Given the description of an element on the screen output the (x, y) to click on. 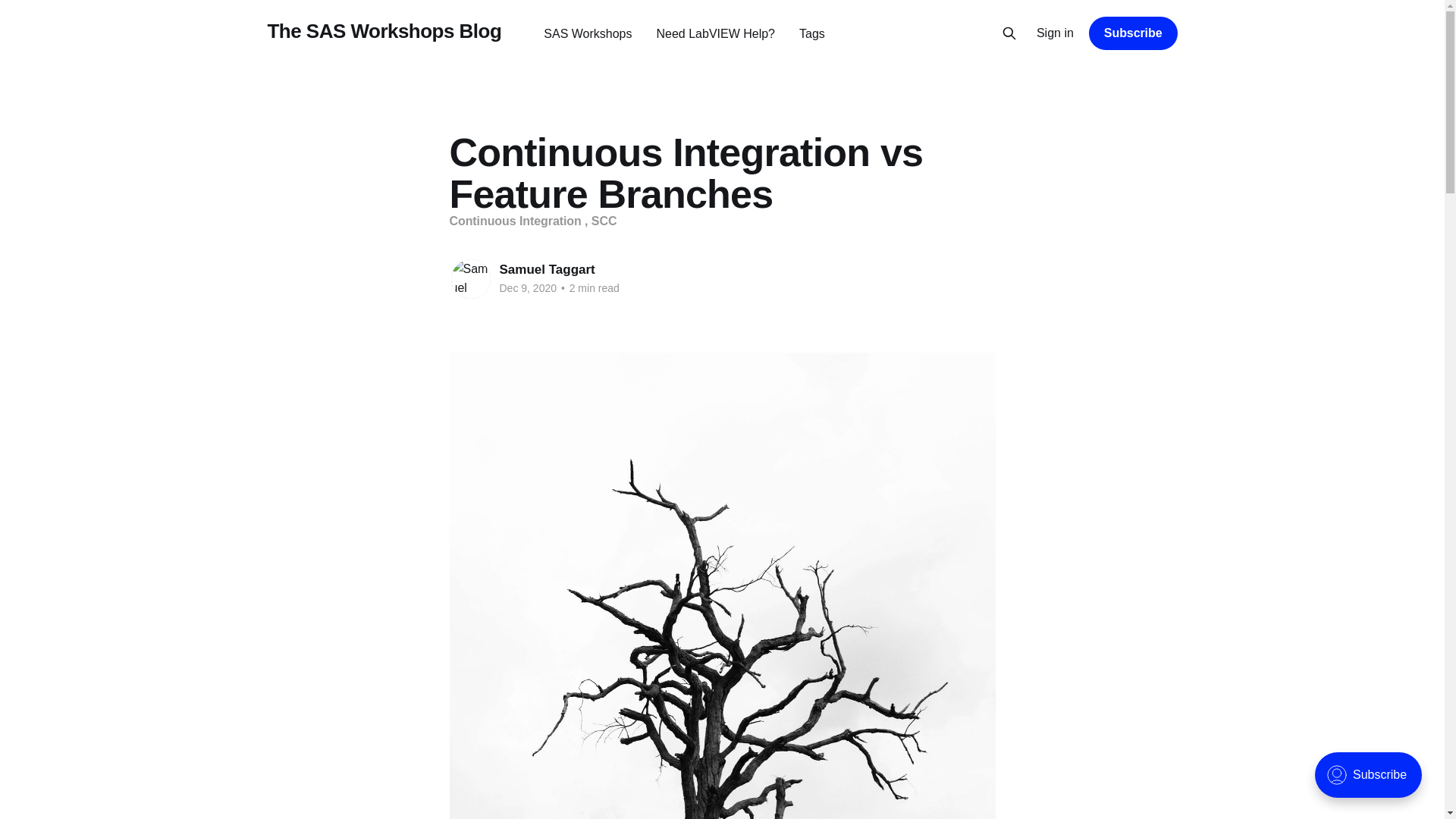
SAS Workshops (587, 33)
SCC (604, 220)
Subscribe (1133, 32)
Samuel Taggart (546, 269)
Continuous Integration (516, 220)
Need LabVIEW Help? (715, 33)
The SAS Workshops Blog (383, 31)
Sign in (1055, 33)
Continuous Integration (516, 220)
SCC (604, 220)
Tags (812, 33)
